Given the description of an element on the screen output the (x, y) to click on. 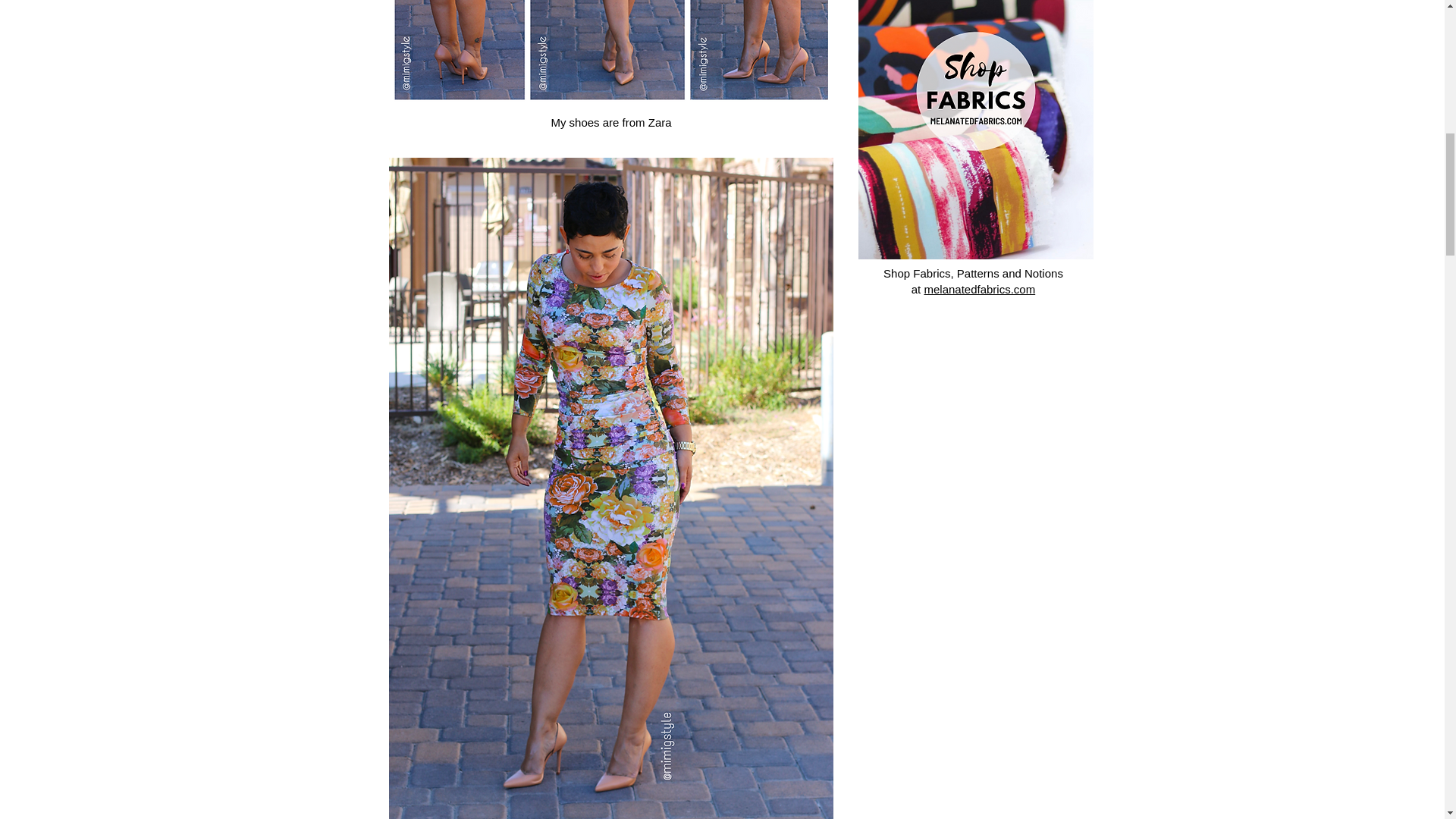
2.png (976, 129)
